Given the description of an element on the screen output the (x, y) to click on. 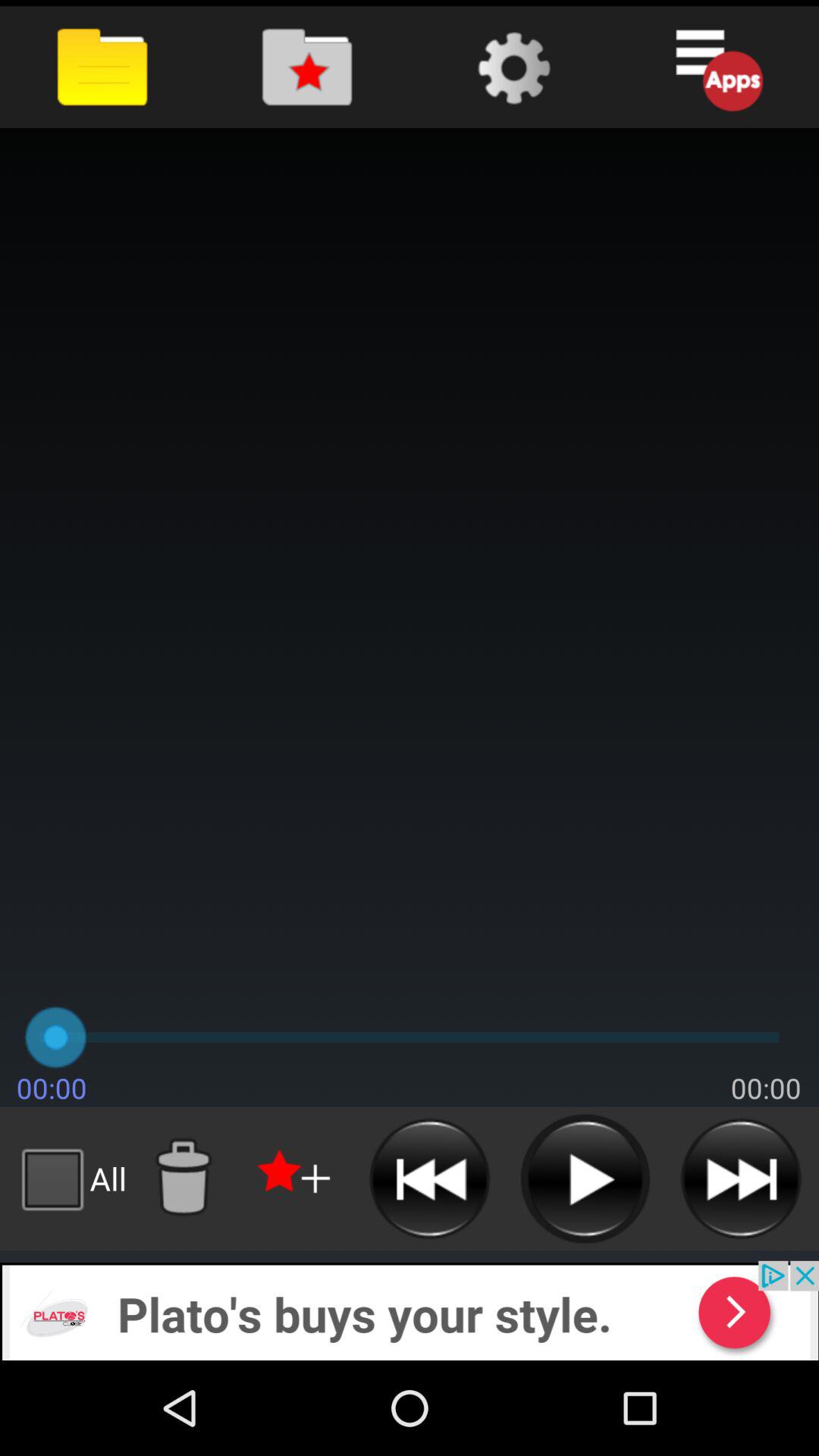
opens 'favorite files (307, 66)
